Given the description of an element on the screen output the (x, y) to click on. 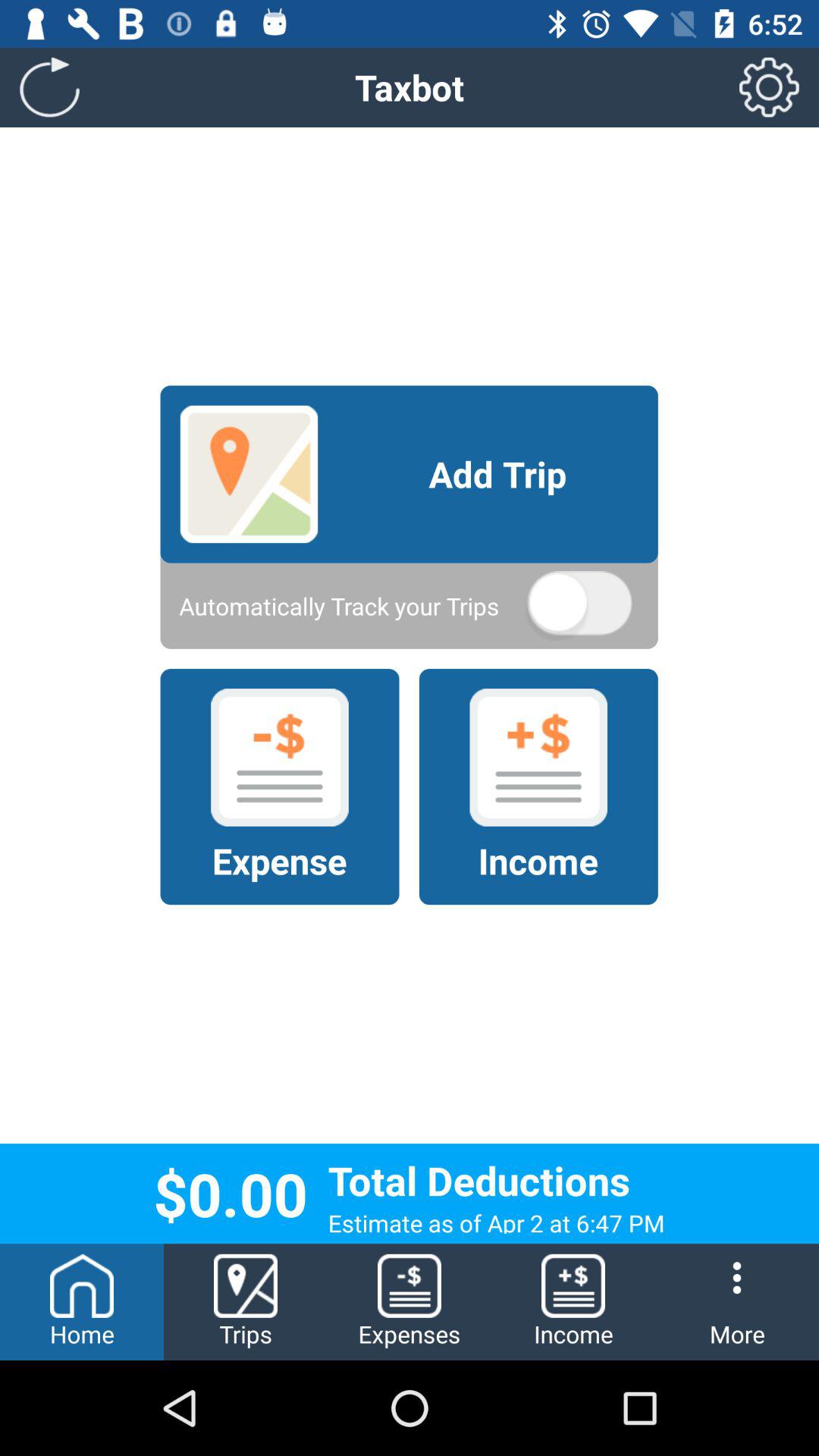
turn off the icon to the right of the taxbot item (769, 87)
